Given the description of an element on the screen output the (x, y) to click on. 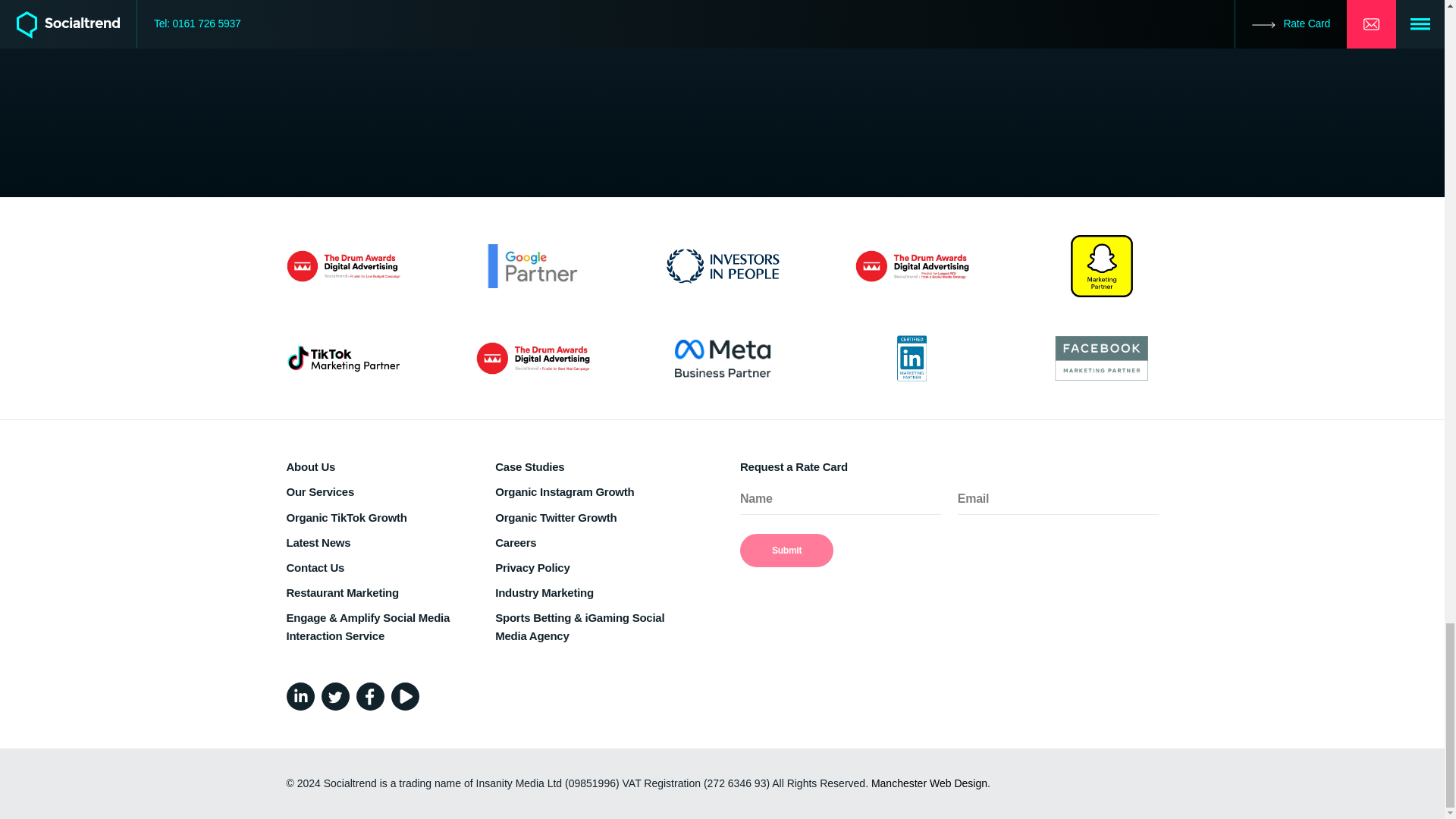
Submit (785, 550)
